Given the description of an element on the screen output the (x, y) to click on. 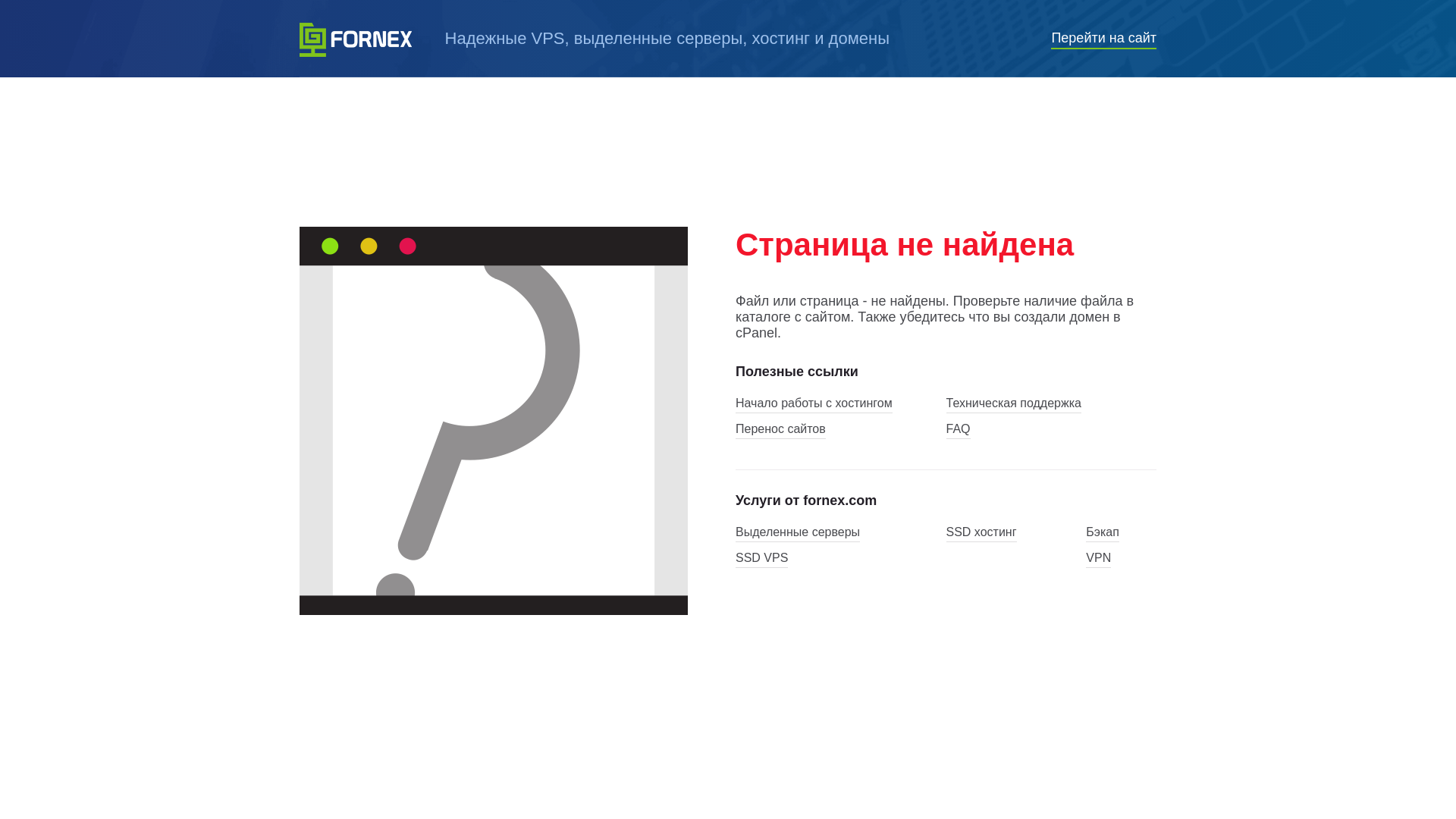
VPN (1098, 559)
SSD VPS (761, 559)
FAQ (958, 430)
